Given the description of an element on the screen output the (x, y) to click on. 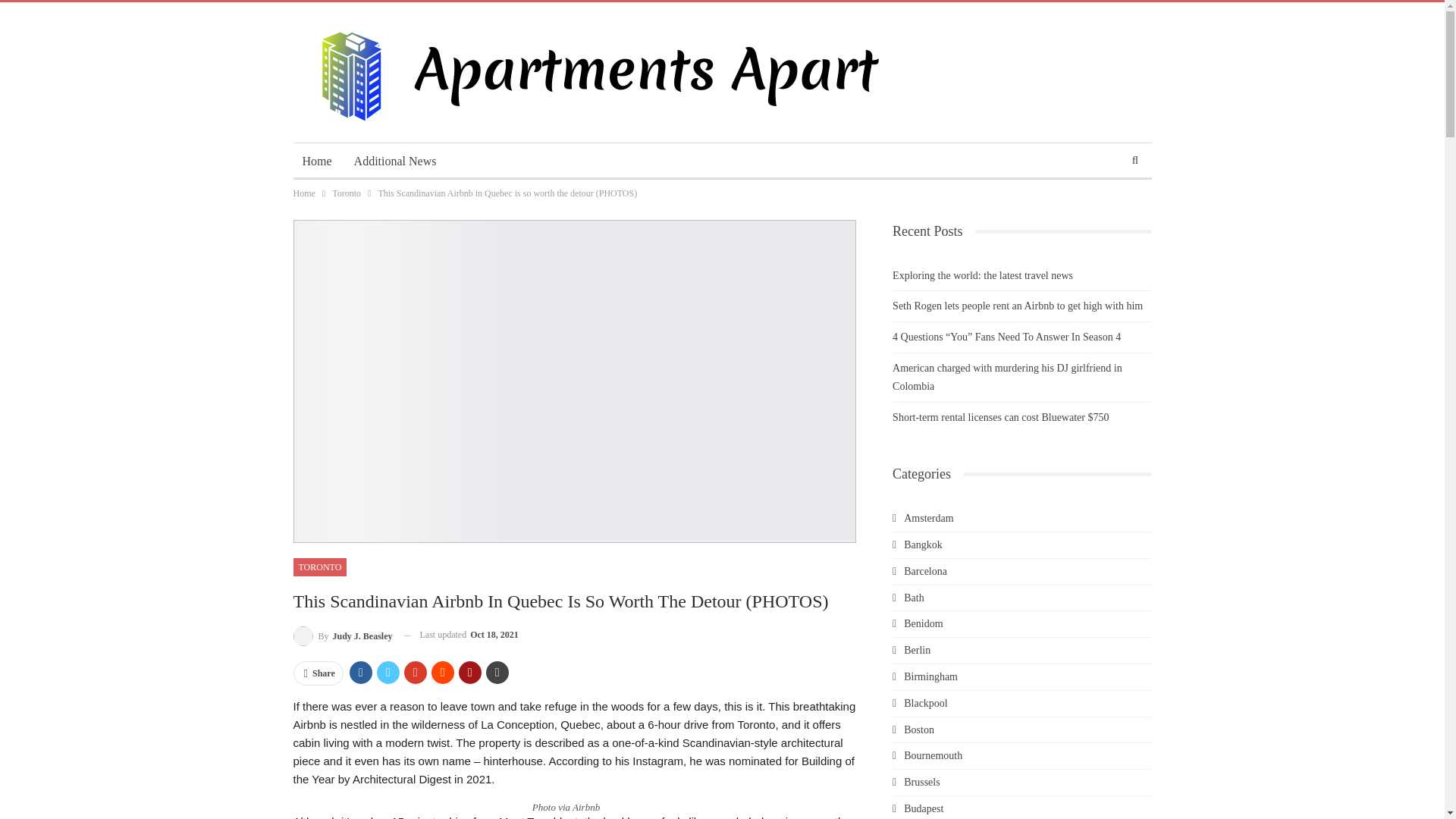
Additional News (395, 161)
Home (303, 193)
Home (316, 161)
TORONTO (319, 566)
Browse Author Articles (341, 634)
By Judy J. Beasley (341, 634)
Toronto (346, 193)
